Given the description of an element on the screen output the (x, y) to click on. 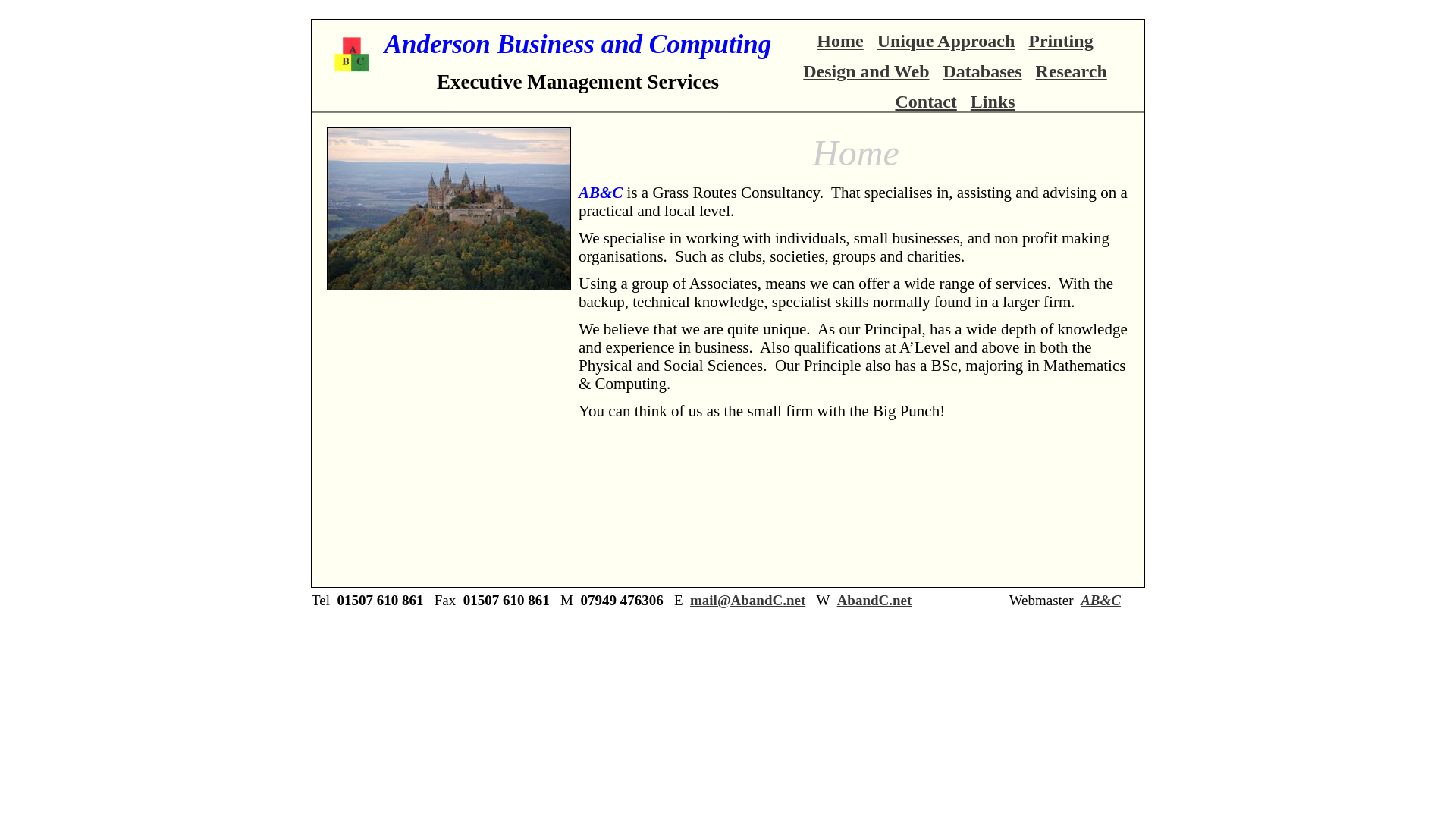
AbandC.net (874, 600)
Printing (1060, 40)
Contact (925, 101)
Design and Web (865, 71)
Home (839, 40)
Research (1070, 71)
Unique Approach (945, 40)
Links (992, 101)
Databases (982, 71)
